Given the description of an element on the screen output the (x, y) to click on. 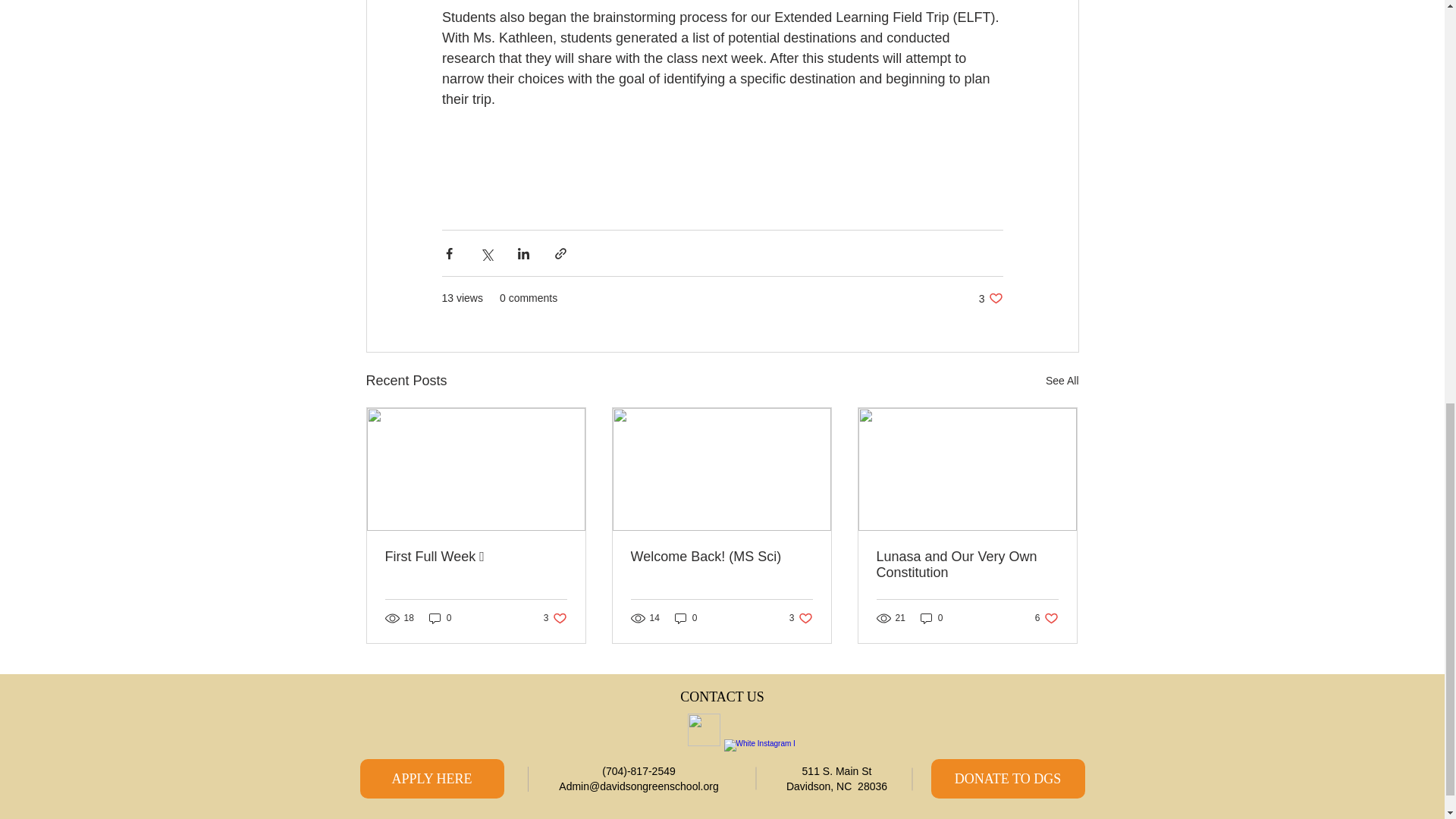
See All (990, 298)
0 (1061, 381)
